Given the description of an element on the screen output the (x, y) to click on. 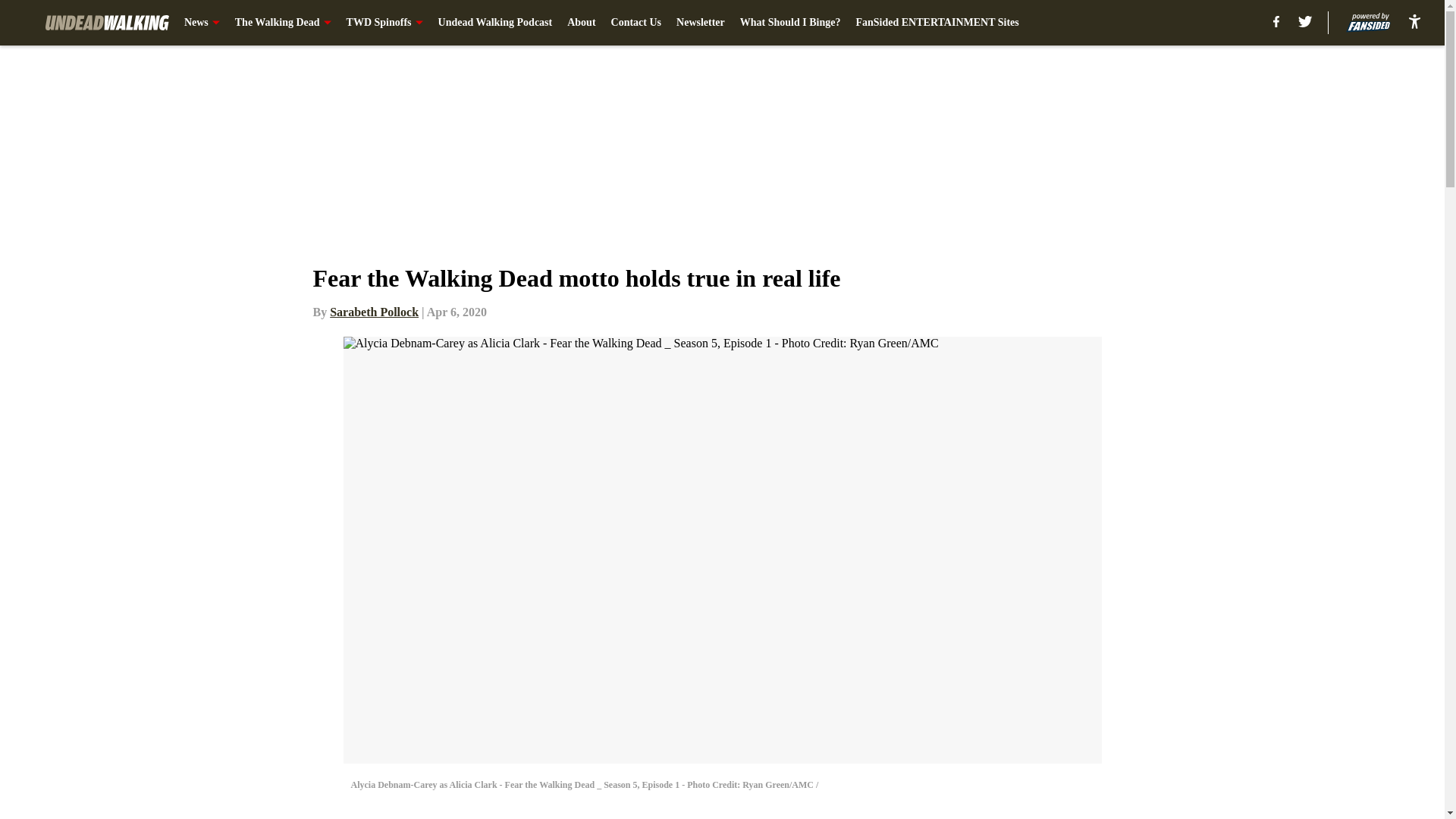
Sarabeth Pollock (374, 311)
About (581, 22)
Newsletter (701, 22)
Undead Walking Podcast (495, 22)
Contact Us (636, 22)
What Should I Binge? (790, 22)
FanSided ENTERTAINMENT Sites (936, 22)
